Given the description of an element on the screen output the (x, y) to click on. 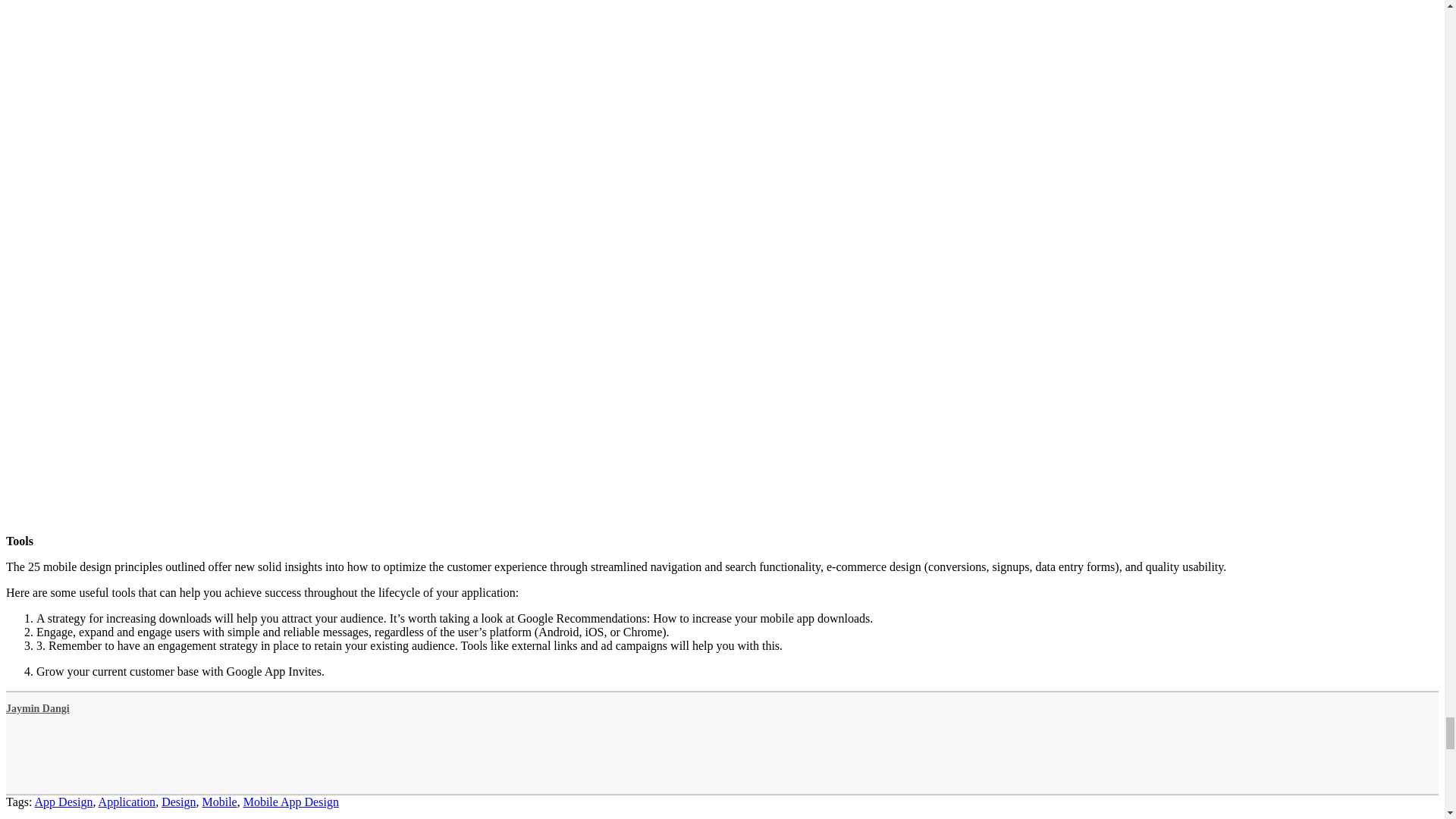
All posts by Jaymin Dangi (37, 708)
Jaymin Dangi (37, 708)
